Given the description of an element on the screen output the (x, y) to click on. 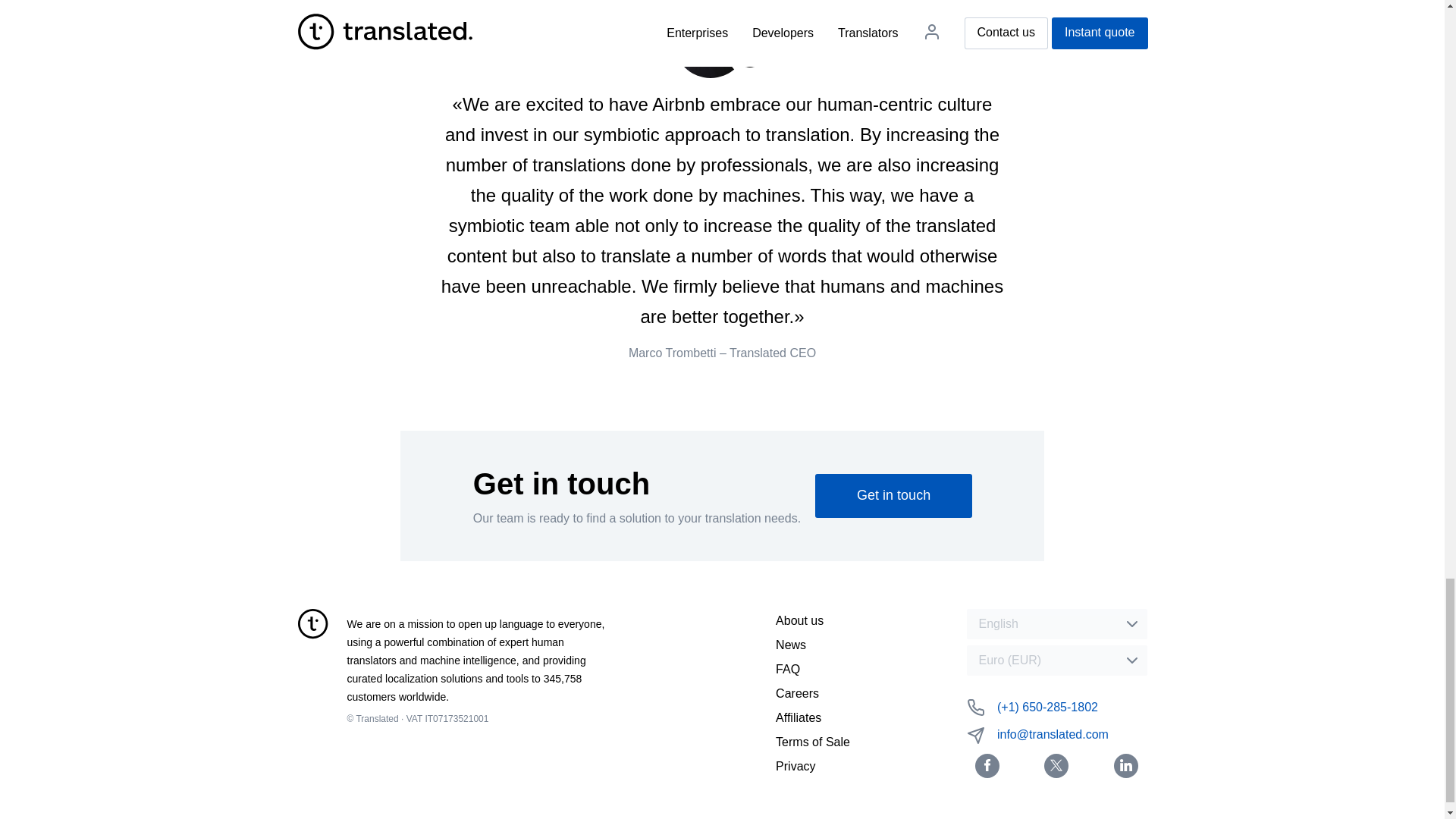
About us (800, 620)
News (791, 644)
Linkedin (1125, 765)
Facebook (986, 765)
Careers (797, 693)
FAQ (787, 668)
Affiliates (798, 717)
Twitter (1055, 765)
Get in touch (893, 495)
Terms of Sale (813, 741)
Privacy (795, 766)
